Given the description of an element on the screen output the (x, y) to click on. 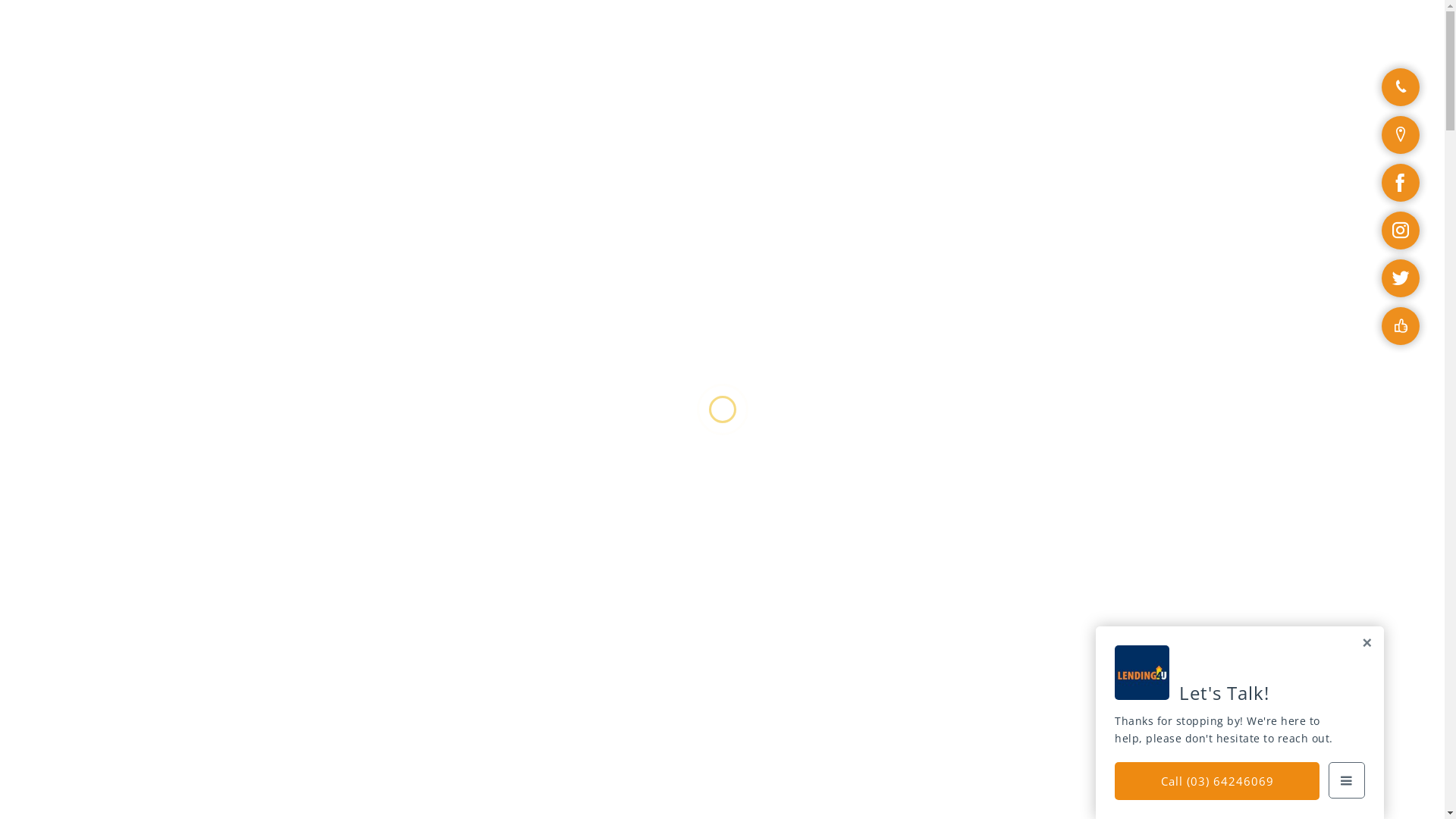
CUSTOMER REVIEWS Element type: text (731, 26)
HOME Element type: text (495, 26)
ADVICE AND LOANS Element type: text (591, 26)
CONTACT Element type: text (919, 26)
Get To Know Us! Element type: text (300, 480)
BLOG Element type: text (983, 26)
THE TEAM Element type: text (841, 26)
Call (03) 64246069 Element type: text (1216, 781)
Make An Appointment Element type: text (1097, 26)
